Given the description of an element on the screen output the (x, y) to click on. 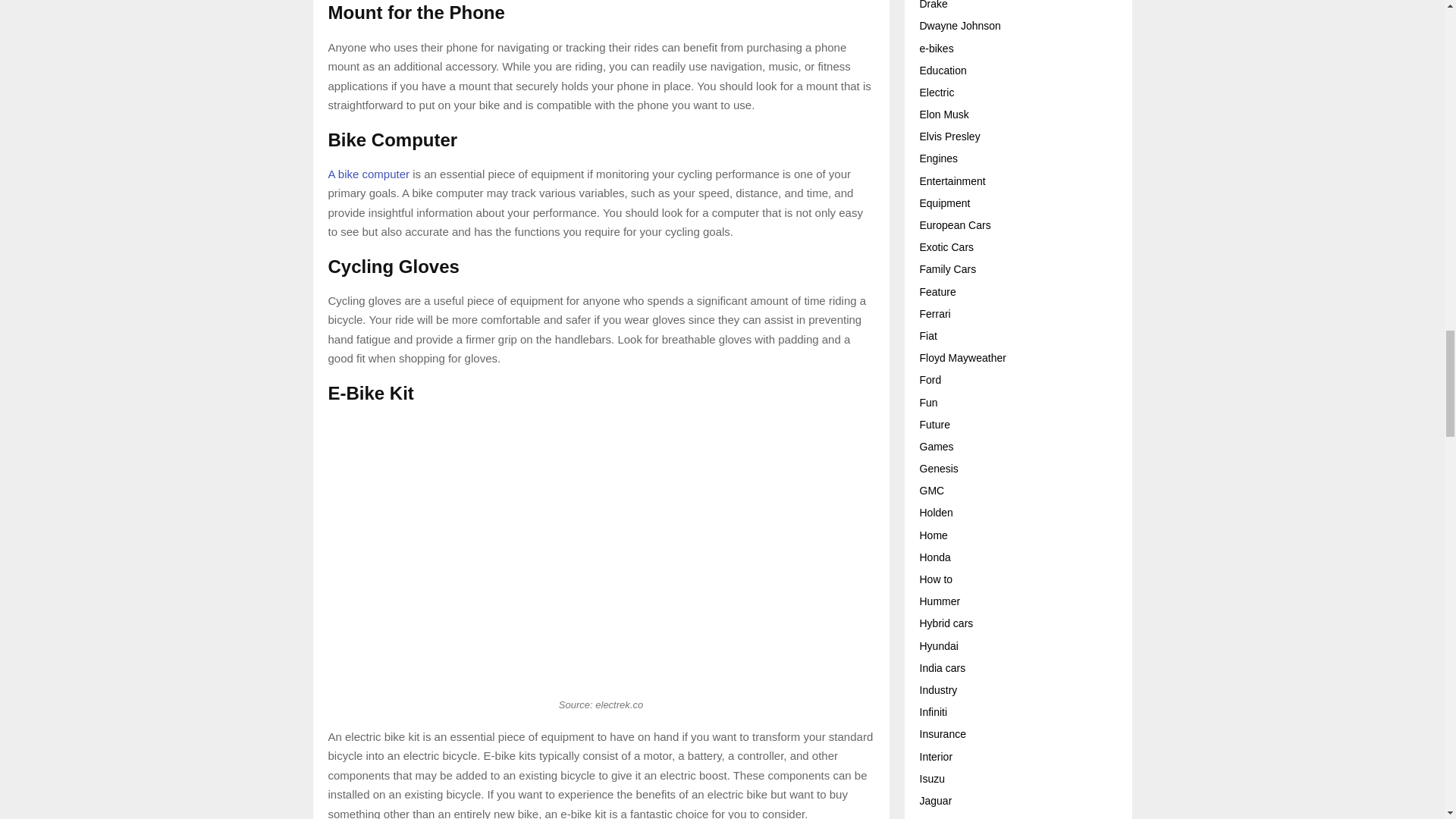
A bike computer (368, 173)
